Given the description of an element on the screen output the (x, y) to click on. 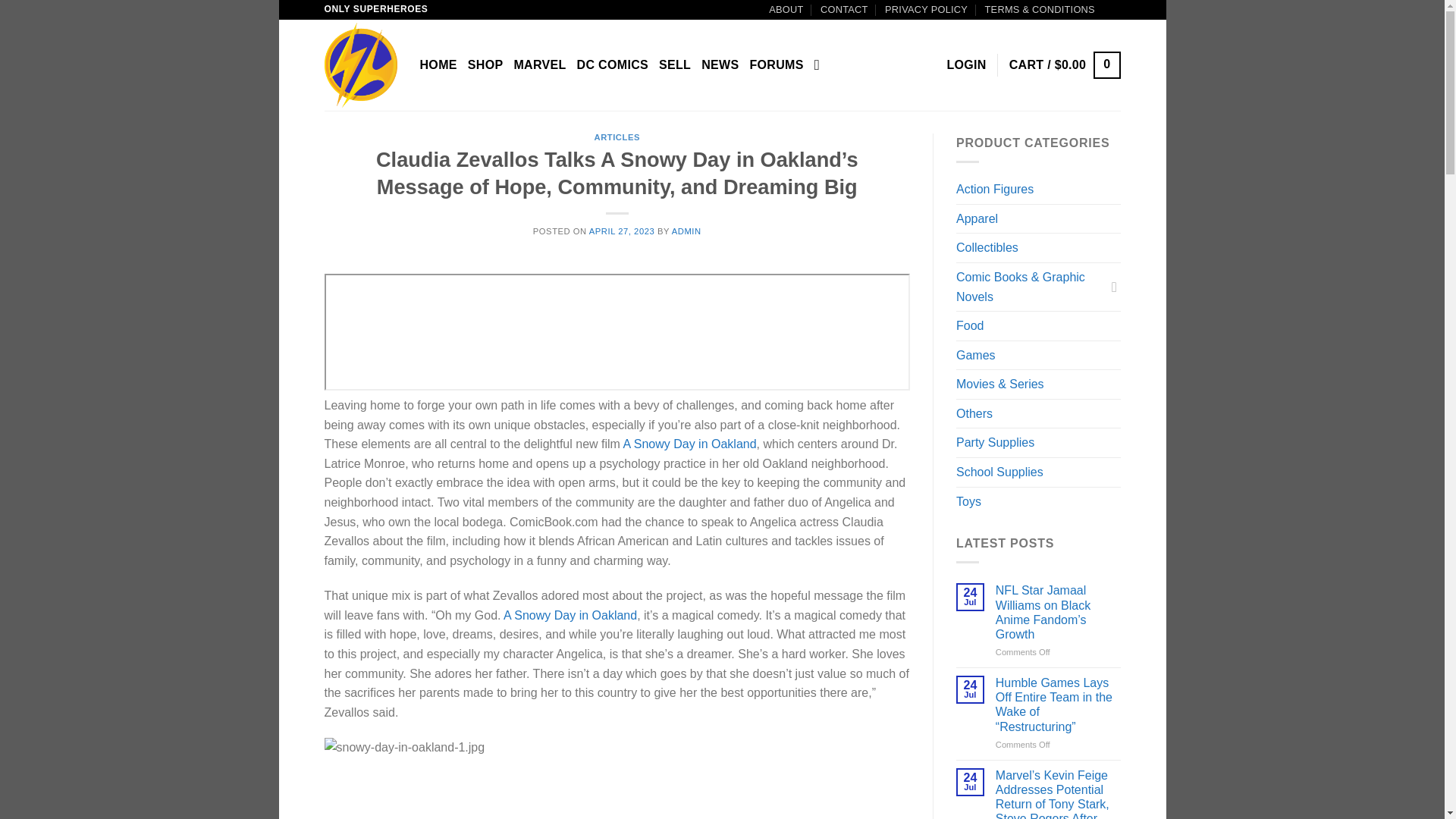
CONTACT (844, 9)
SELL (674, 64)
ADMIN (686, 230)
ABOUT (785, 9)
A Snowy Day in Oakland (570, 615)
NEWS (719, 64)
DC COMICS (611, 64)
A Snowy Day in Oakland (689, 443)
FORUMS (776, 64)
HOME (438, 64)
ARTICLES (617, 136)
APRIL 27, 2023 (621, 230)
SHOP (485, 64)
MARVEL (539, 64)
